Given the description of an element on the screen output the (x, y) to click on. 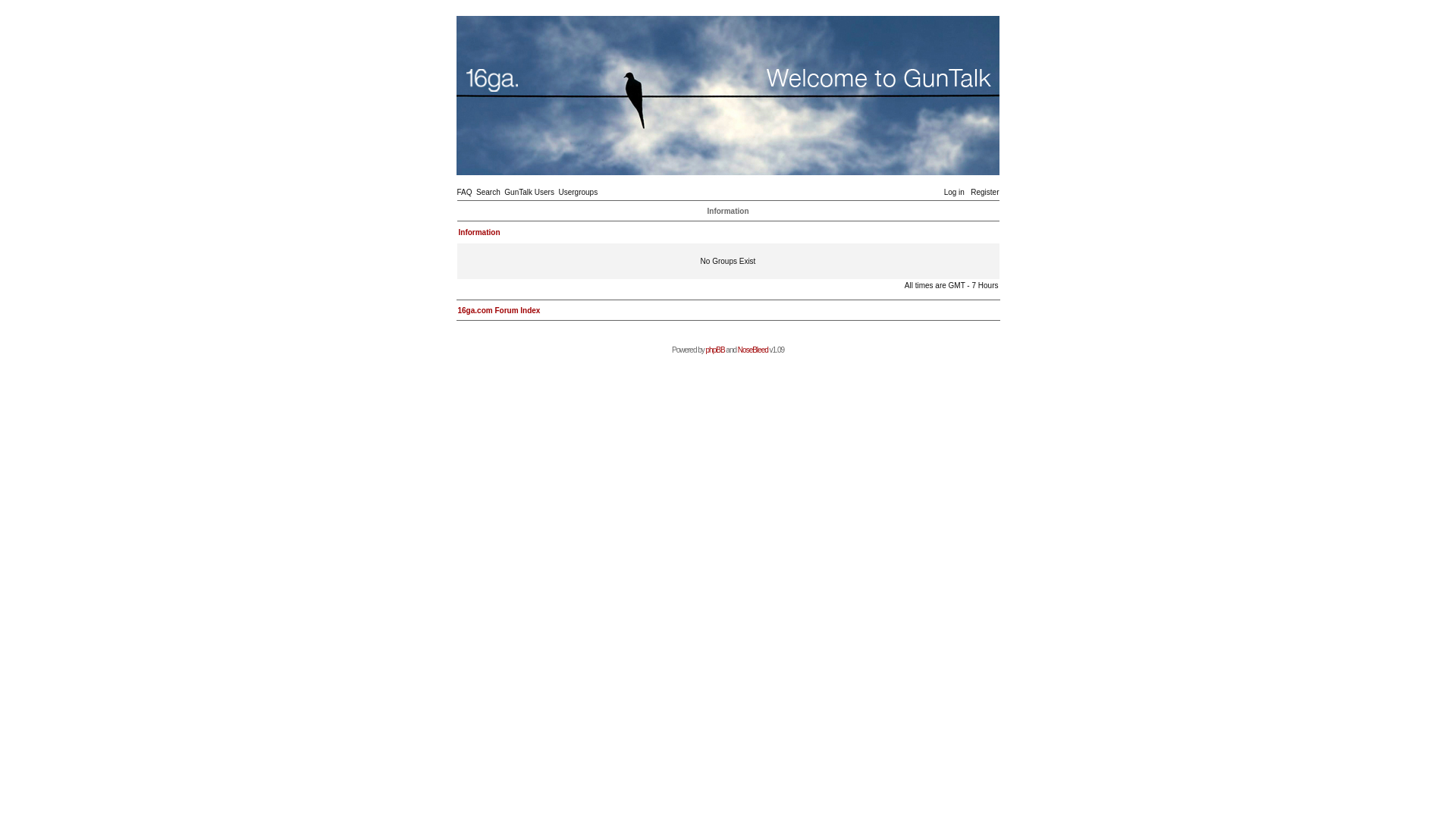
GunTalk Users Element type: text (529, 192)
Search Element type: text (488, 192)
FAQ Element type: text (463, 192)
phpBB Element type: text (715, 349)
NoseBleed Element type: text (752, 349)
Usergroups Element type: text (577, 192)
16ga.com Forum Index Element type: text (499, 310)
Register Element type: text (984, 192)
Log in Element type: text (954, 192)
